Given the description of an element on the screen output the (x, y) to click on. 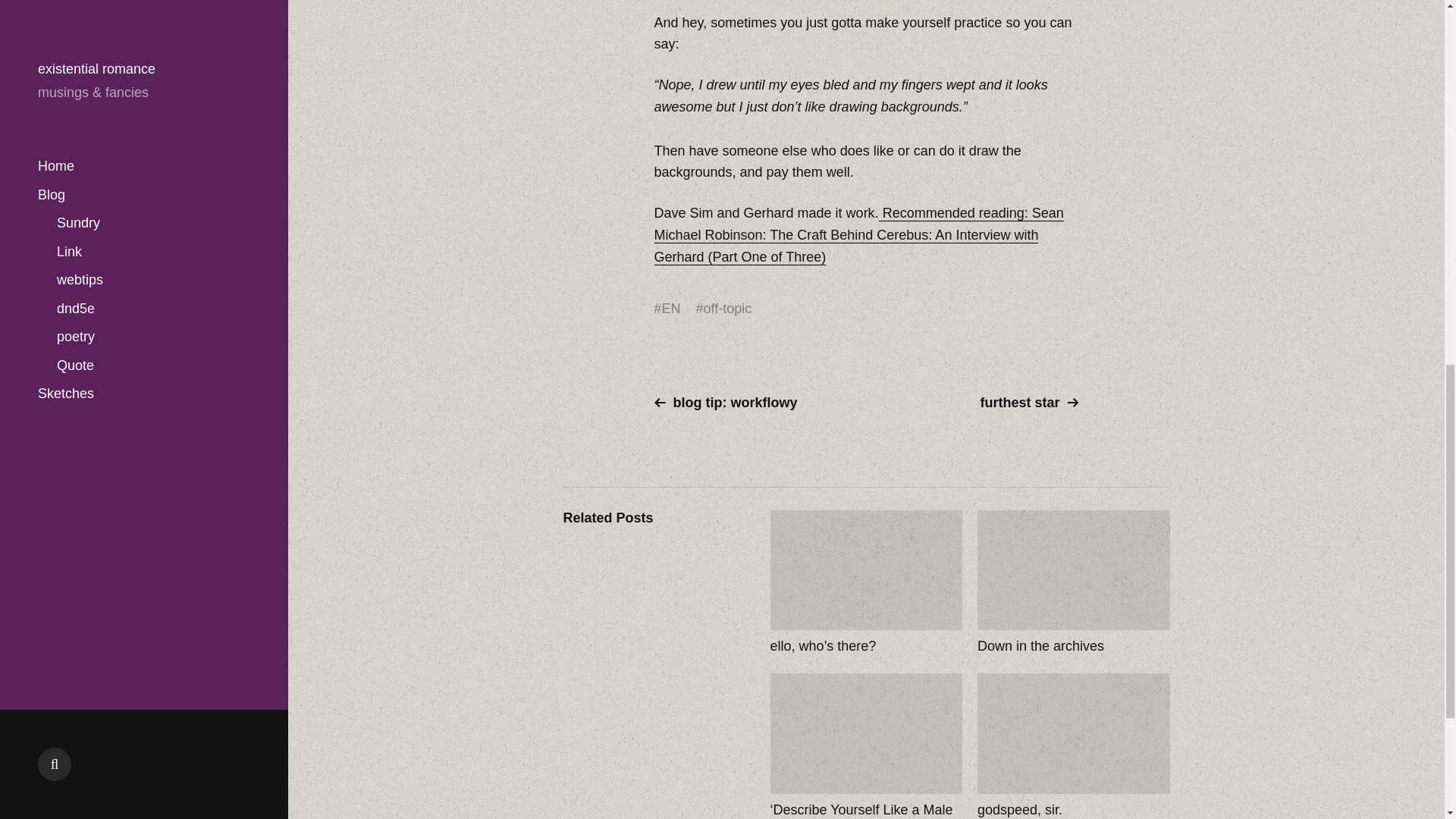
blog tip: workflowy (753, 402)
godspeed, sir. (1073, 746)
furthest star (977, 402)
Down in the archives (1073, 582)
off-topic (727, 308)
EN (671, 308)
